Given the description of an element on the screen output the (x, y) to click on. 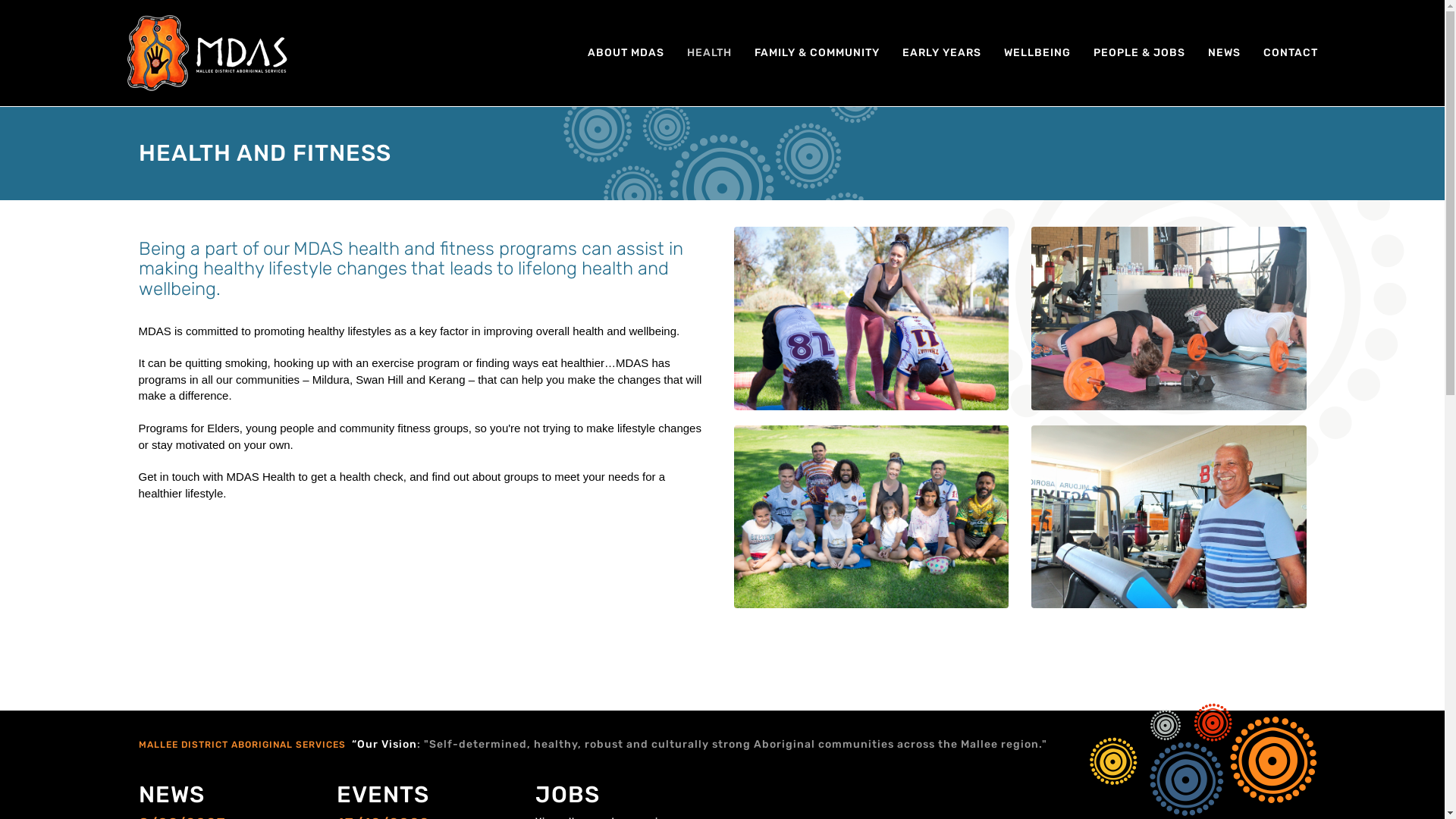
FAMILY & COMMUNITY Element type: text (817, 53)
NEWS Element type: text (170, 794)
PEOPLE & JOBS Element type: text (1138, 53)
WELLBEING Element type: text (1036, 53)
NEWS Element type: text (1224, 53)
EARLY YEARS Element type: text (940, 53)
ABOUT MDAS Element type: text (625, 53)
JOBS Element type: text (567, 794)
CONTACT Element type: text (1289, 53)
HEALTH Element type: text (708, 53)
EVENTS Element type: text (382, 794)
